Given the description of an element on the screen output the (x, y) to click on. 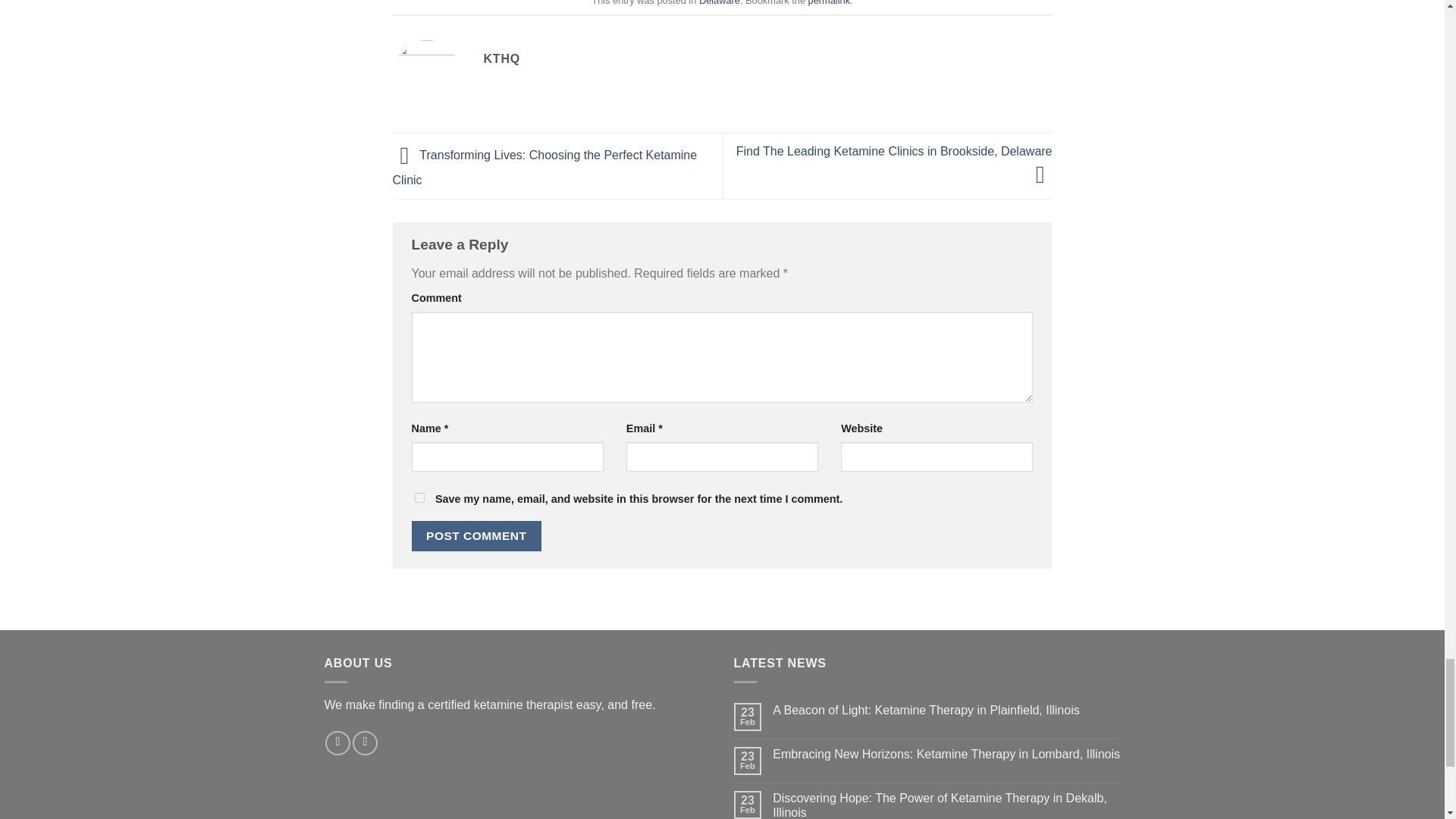
Follow on Facebook (337, 743)
A Beacon of Light: Ketamine Therapy in Plainfield, Illinois (946, 709)
yes (418, 497)
Post Comment (475, 535)
Send us an email (364, 743)
